Given the description of an element on the screen output the (x, y) to click on. 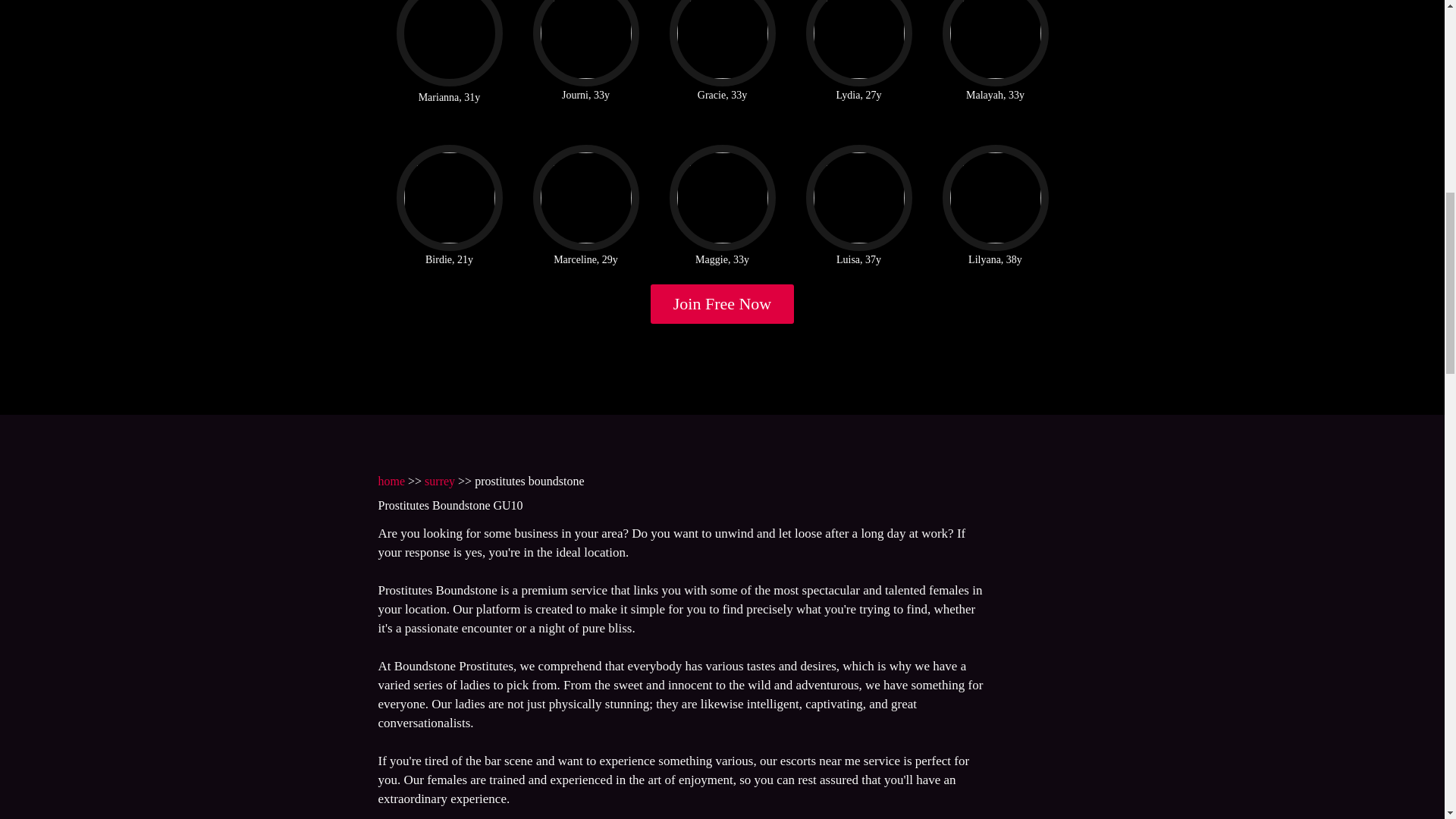
surrey (439, 481)
Join Free Now (722, 303)
Join (722, 303)
home (390, 481)
